Given the description of an element on the screen output the (x, y) to click on. 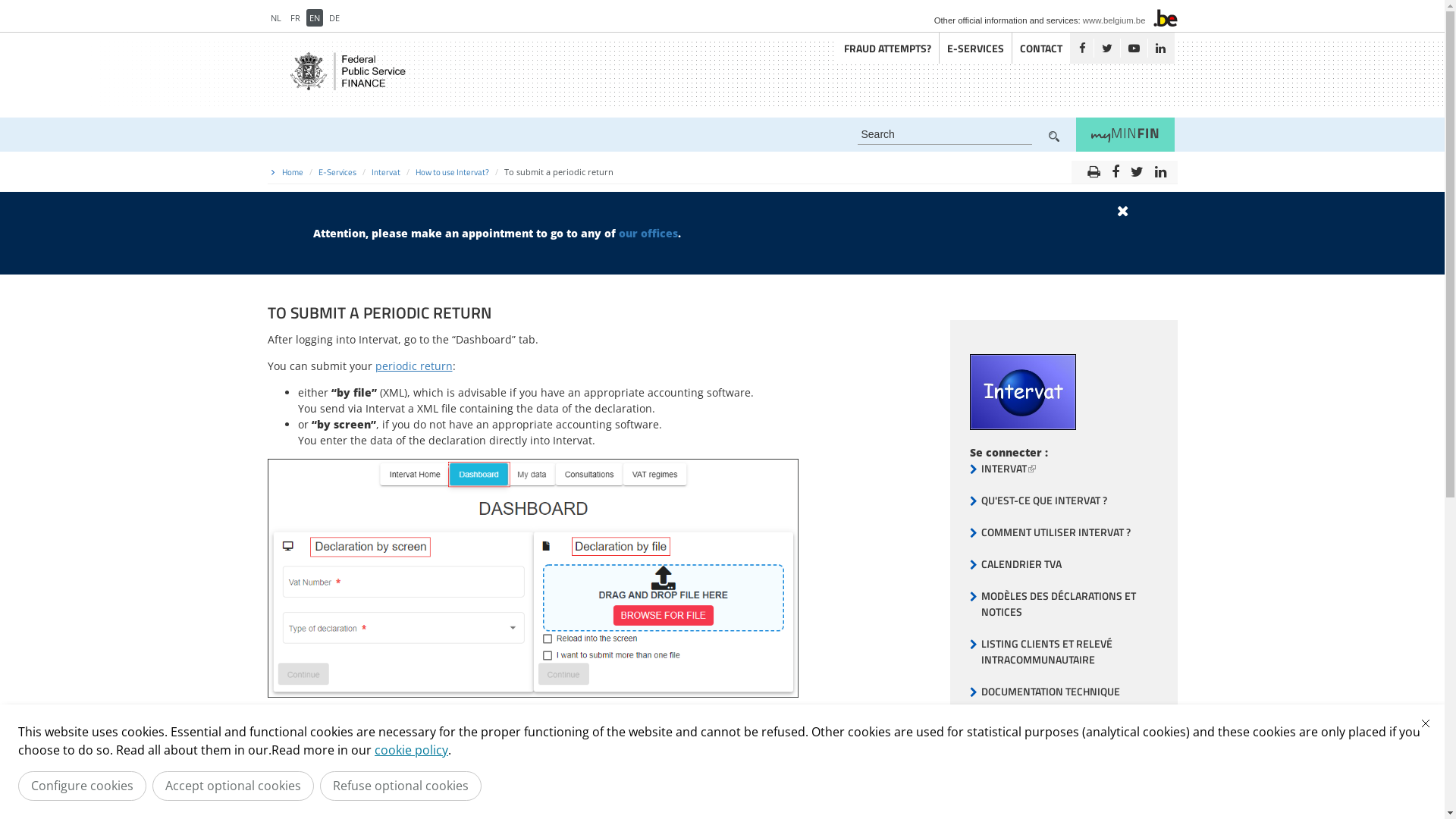
OSS Element type: text (990, 723)
FR Element type: text (294, 17)
Intervat Element type: text (385, 172)
Refuse optional cookies Element type: text (400, 785)
E-SERVICES Element type: text (974, 47)
INTERVAT
(LINK IS EXTERNAL) Element type: text (1008, 468)
ENVIRONNEMENT DE TEST
(LINK IS EXTERNAL) Element type: text (1048, 786)
Twitter Element type: text (1106, 47)
Configure cookies Element type: text (82, 785)
NL Element type: text (274, 17)
Linkedin Element type: text (1159, 47)
our offices Element type: text (647, 232)
DE Element type: text (334, 17)
COMMENT UTILISER INTERVAT ? Element type: text (1055, 531)
myMINFIN Element type: text (1124, 134)
How to use Intervat? Element type: text (452, 172)
Accept optional cookies Element type: text (232, 785)
CONTACT Element type: text (1040, 47)
Skip to main content Element type: text (52, 0)
linkedin Element type: hover (1160, 167)
E-Services Element type: text (337, 172)
EN Element type: text (314, 17)
Zoek Element type: text (1052, 135)
www.belgium.be Element type: text (1113, 20)
Return to the FPS Finance homepage Element type: hover (351, 71)
QU'EST-CE QUE INTERVAT ? Element type: text (1044, 500)
Youtube Element type: text (1132, 47)
By screen Element type: text (602, 793)
facebook Element type: hover (1114, 167)
Facebook Element type: text (1081, 47)
FRAUD ATTEMPTS? Element type: text (886, 47)
Home Element type: text (292, 172)
cookie policy Element type: text (411, 749)
DOCUMENTATION TECHNIQUE Element type: text (1050, 691)
twitter Element type: hover (1136, 167)
print Element type: hover (1092, 167)
Close Element type: hover (1425, 723)
(This hyperlink opens a new window) Element type: text (1022, 425)
CALENDRIER TVA
(THIS HYPERLINK OPENS A NEW WINDOW) Element type: text (1021, 563)
periodic return Element type: text (412, 365)
CONTACT Element type: text (1002, 754)
By XML file Element type: text (602, 754)
